Given the description of an element on the screen output the (x, y) to click on. 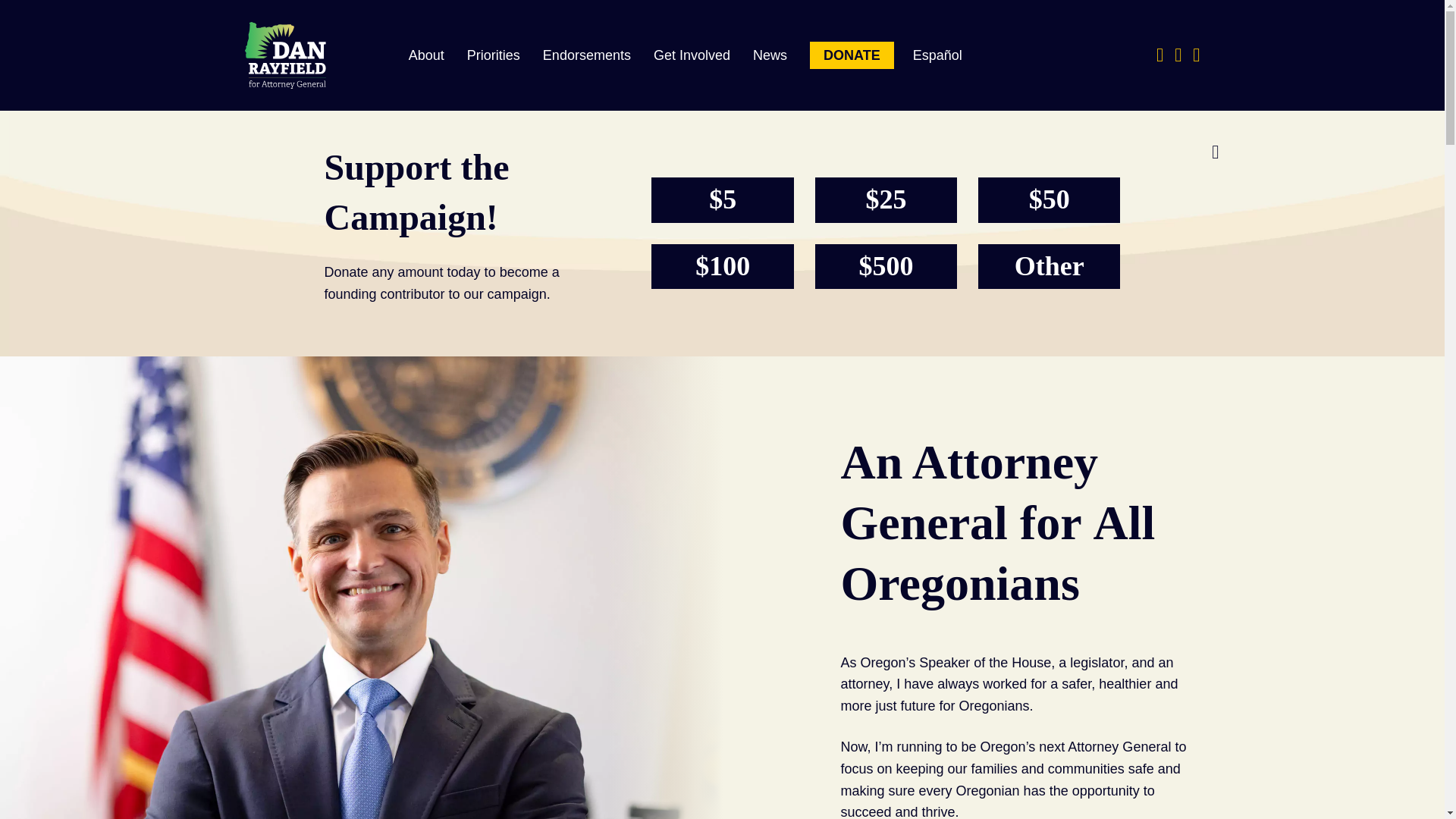
Priorities (493, 55)
Get Involved (691, 55)
DONATE (851, 54)
Endorsements (586, 55)
News (769, 55)
About (426, 55)
Other (1048, 266)
